Given the description of an element on the screen output the (x, y) to click on. 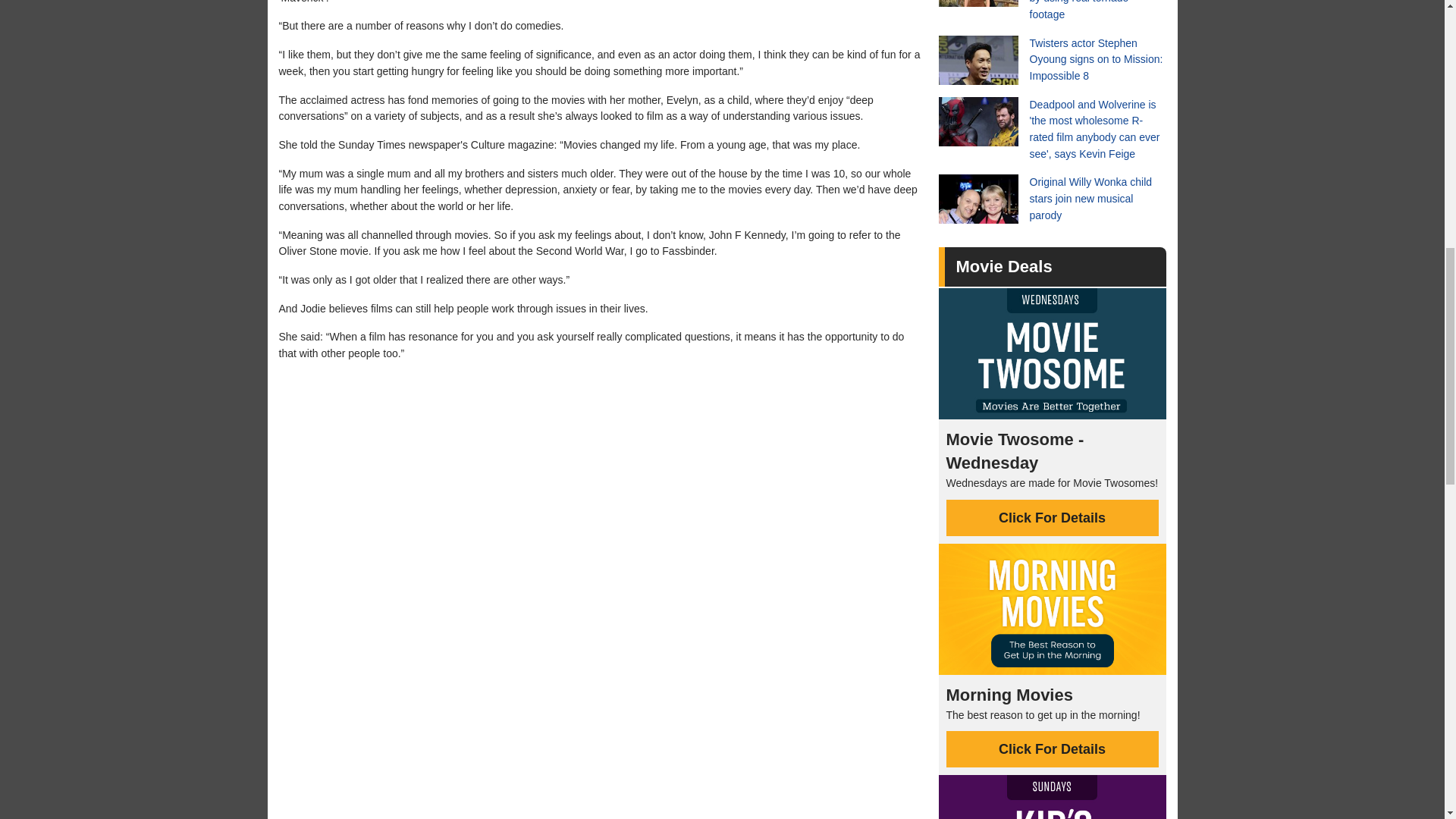
Original Willy Wonka child stars join new musical parody (1052, 198)
Click For Details (1052, 517)
Click For Details (1052, 749)
Movie Deals (1003, 266)
